Given the description of an element on the screen output the (x, y) to click on. 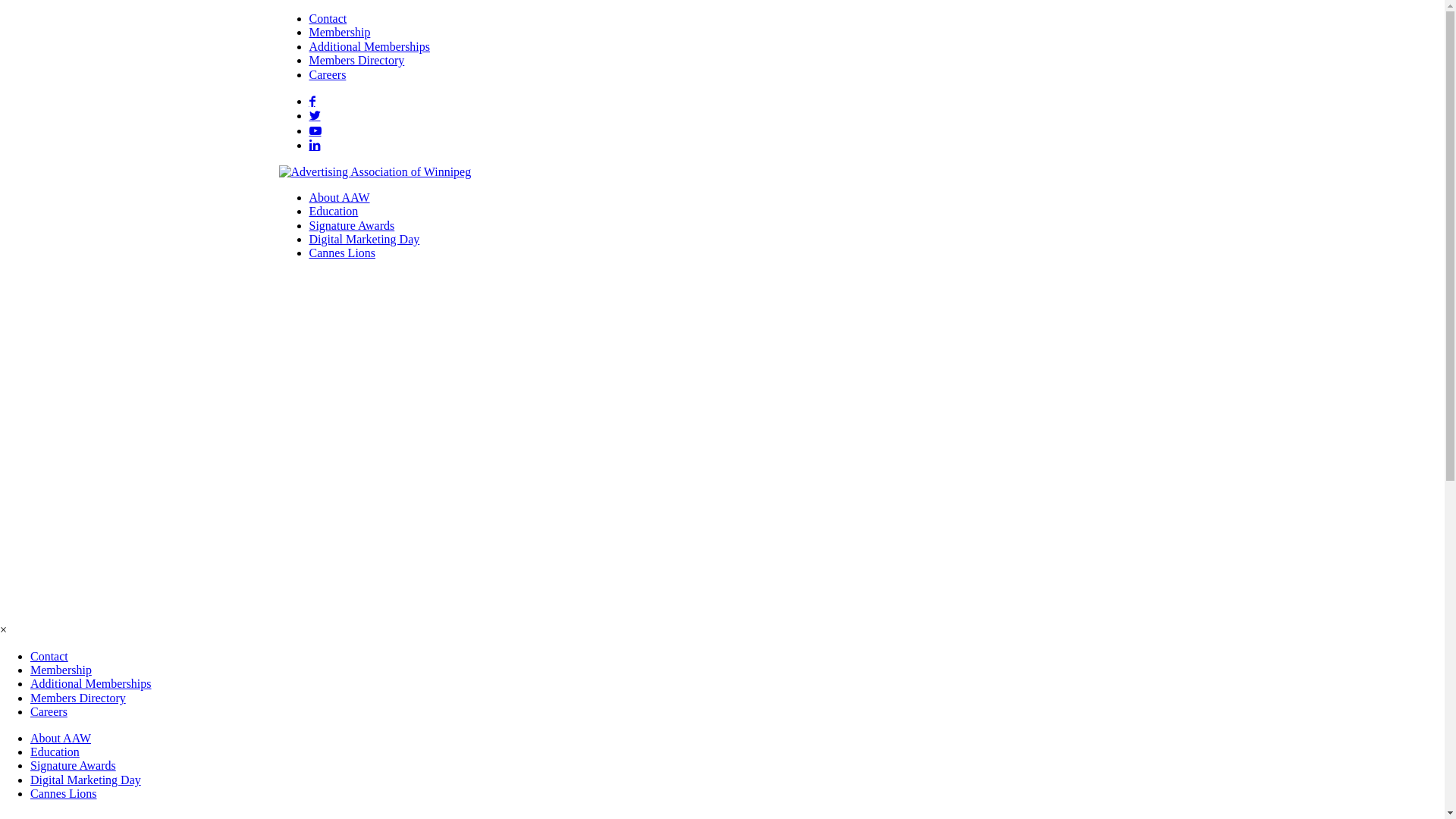
Education Element type: text (333, 210)
Careers Element type: text (327, 74)
Members Directory Element type: text (356, 59)
Membership Element type: text (339, 31)
Members Directory Element type: text (77, 697)
Cannes Lions Element type: text (63, 793)
Contact Element type: text (328, 18)
Contact Element type: text (49, 655)
Additional Memberships Element type: text (369, 46)
Additional Memberships Element type: text (90, 683)
About AAW Element type: text (339, 197)
Cannes Lions Element type: text (342, 252)
Education Element type: text (54, 751)
Membership Element type: text (60, 669)
Signature Awards Element type: text (352, 225)
Digital Marketing Day Element type: text (364, 238)
About AAW Element type: text (60, 737)
Digital Marketing Day Element type: text (85, 779)
Signature Awards Element type: text (73, 765)
Careers Element type: text (48, 711)
